Given the description of an element on the screen output the (x, y) to click on. 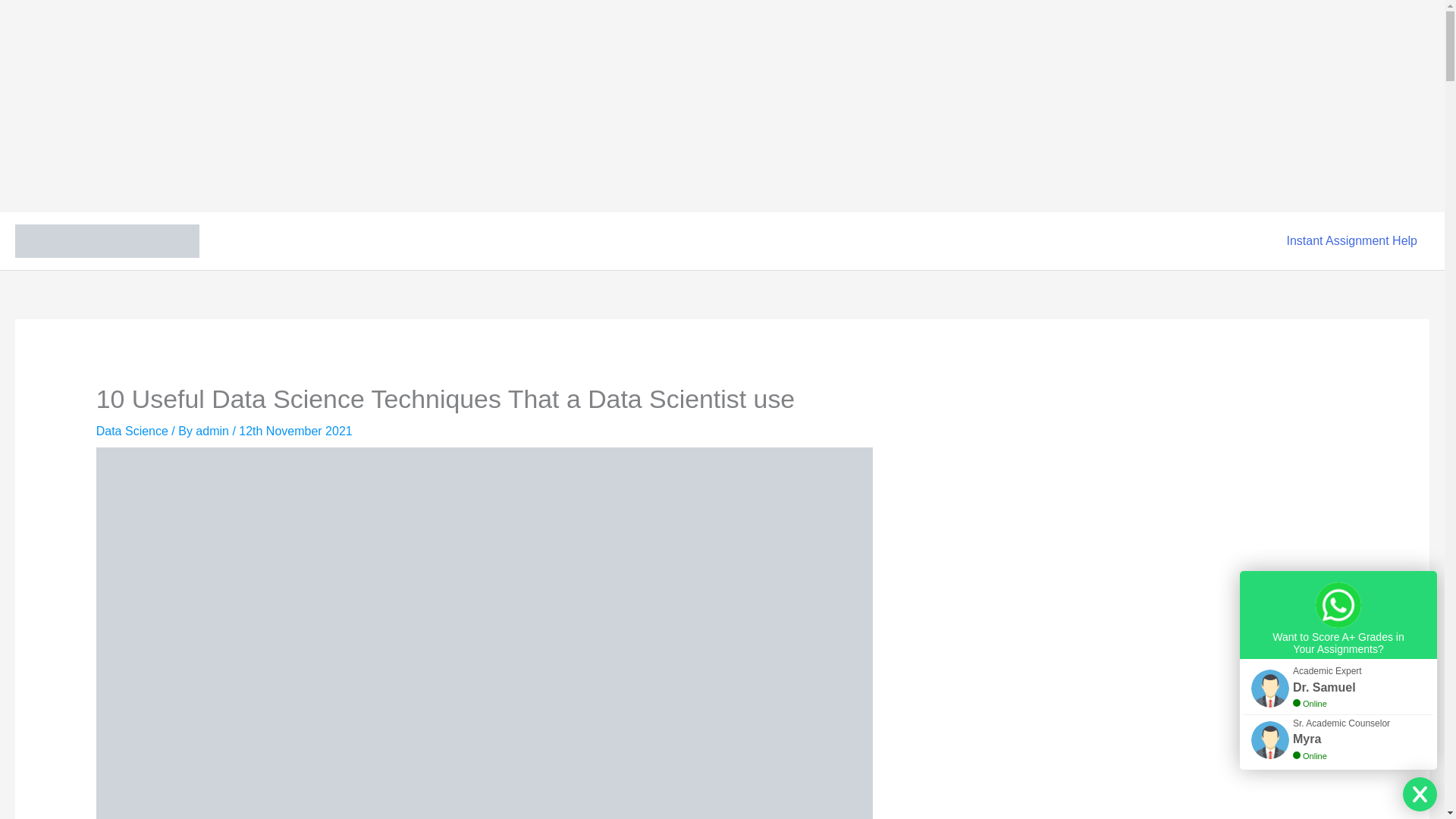
admin (213, 431)
View all posts by admin (213, 431)
Data Science (132, 431)
Instant Assignment Help (1351, 240)
